Given the description of an element on the screen output the (x, y) to click on. 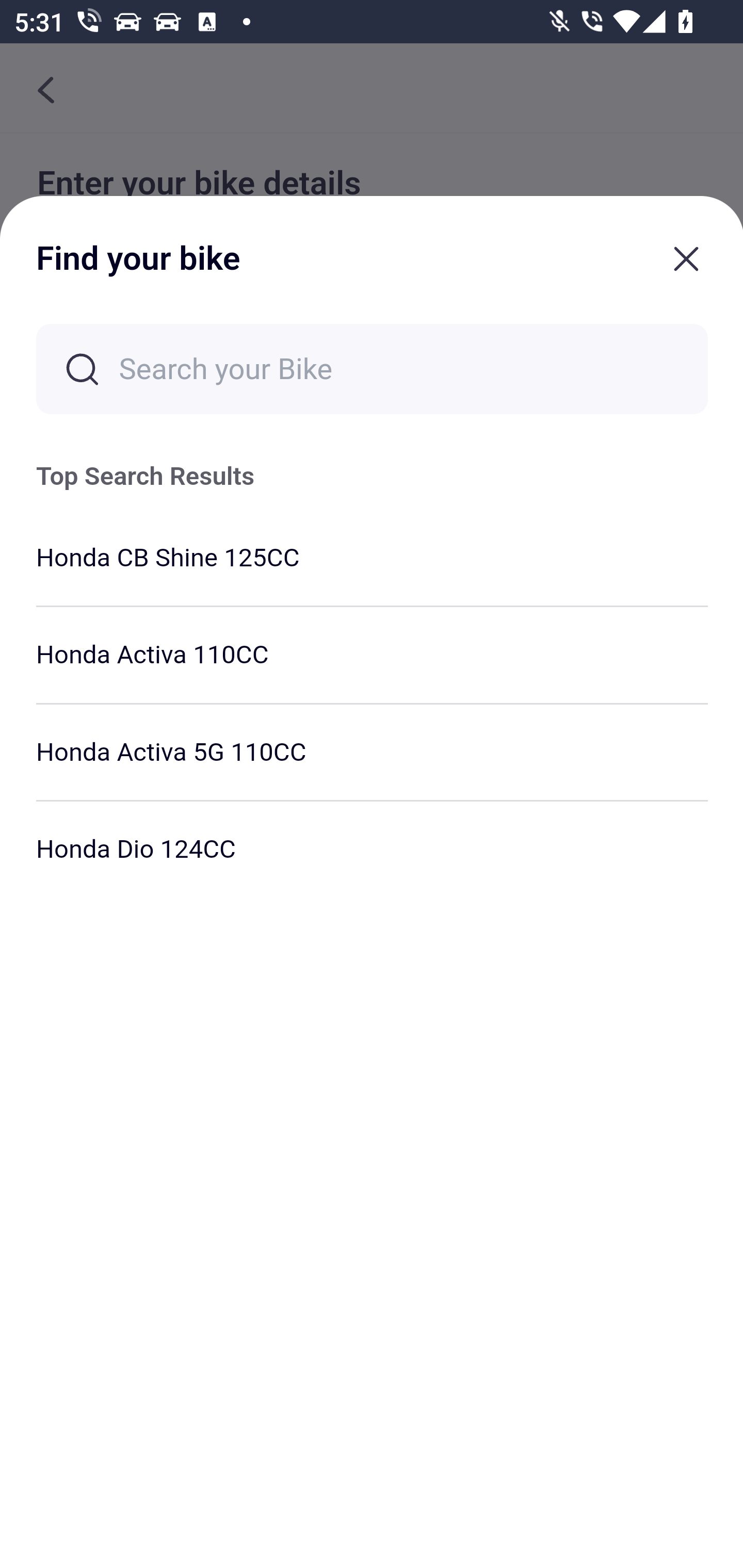
Mobile number  (372, 494)
